Given the description of an element on the screen output the (x, y) to click on. 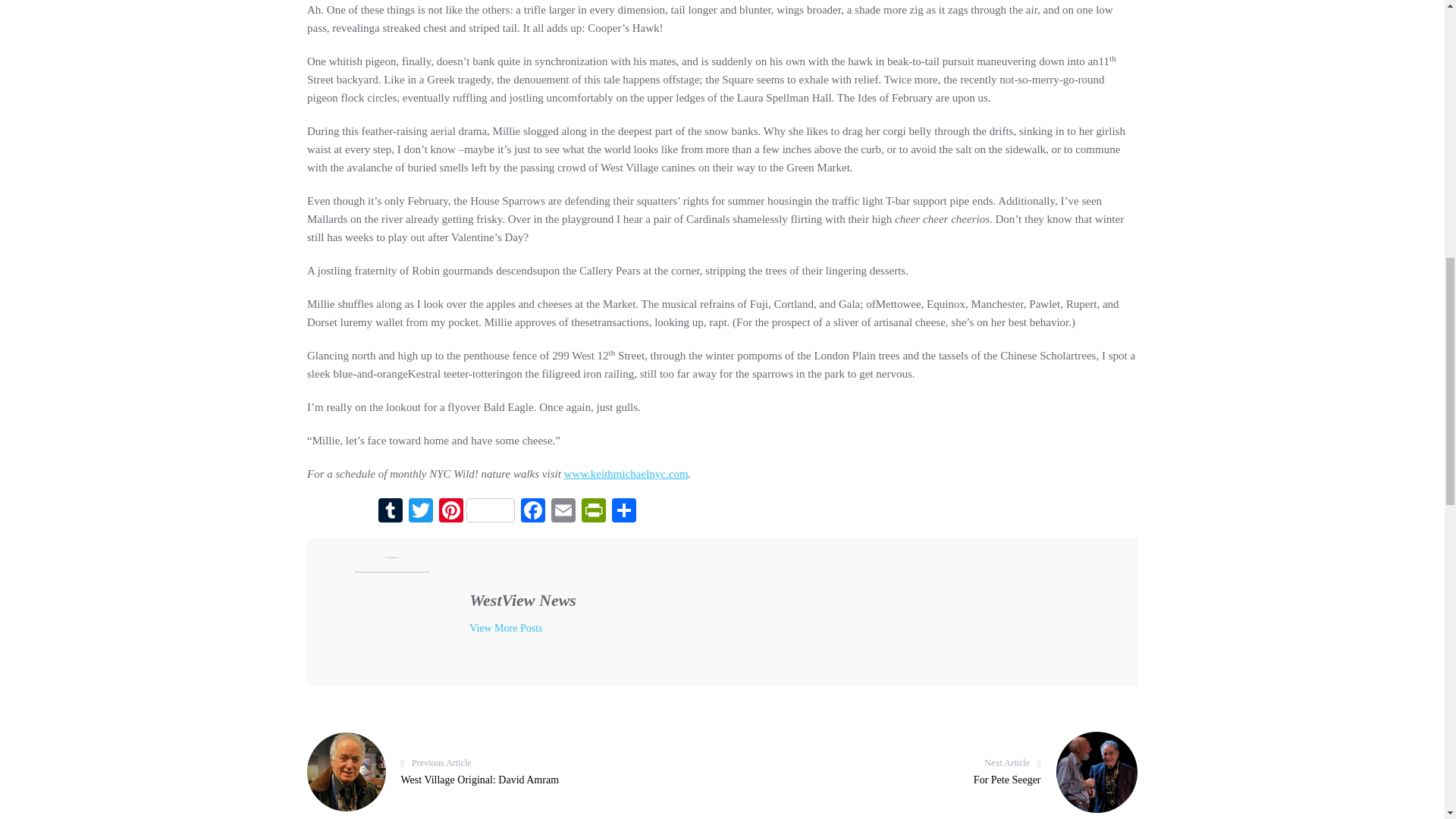
Pinterest (476, 511)
www.keithmichaelnyc.com (626, 473)
PrintFriendly (593, 511)
Tumblr (390, 511)
Pinterest (476, 511)
Twitter (420, 511)
Facebook (533, 511)
Twitter (420, 511)
Email (563, 511)
Tumblr (390, 511)
